Given the description of an element on the screen output the (x, y) to click on. 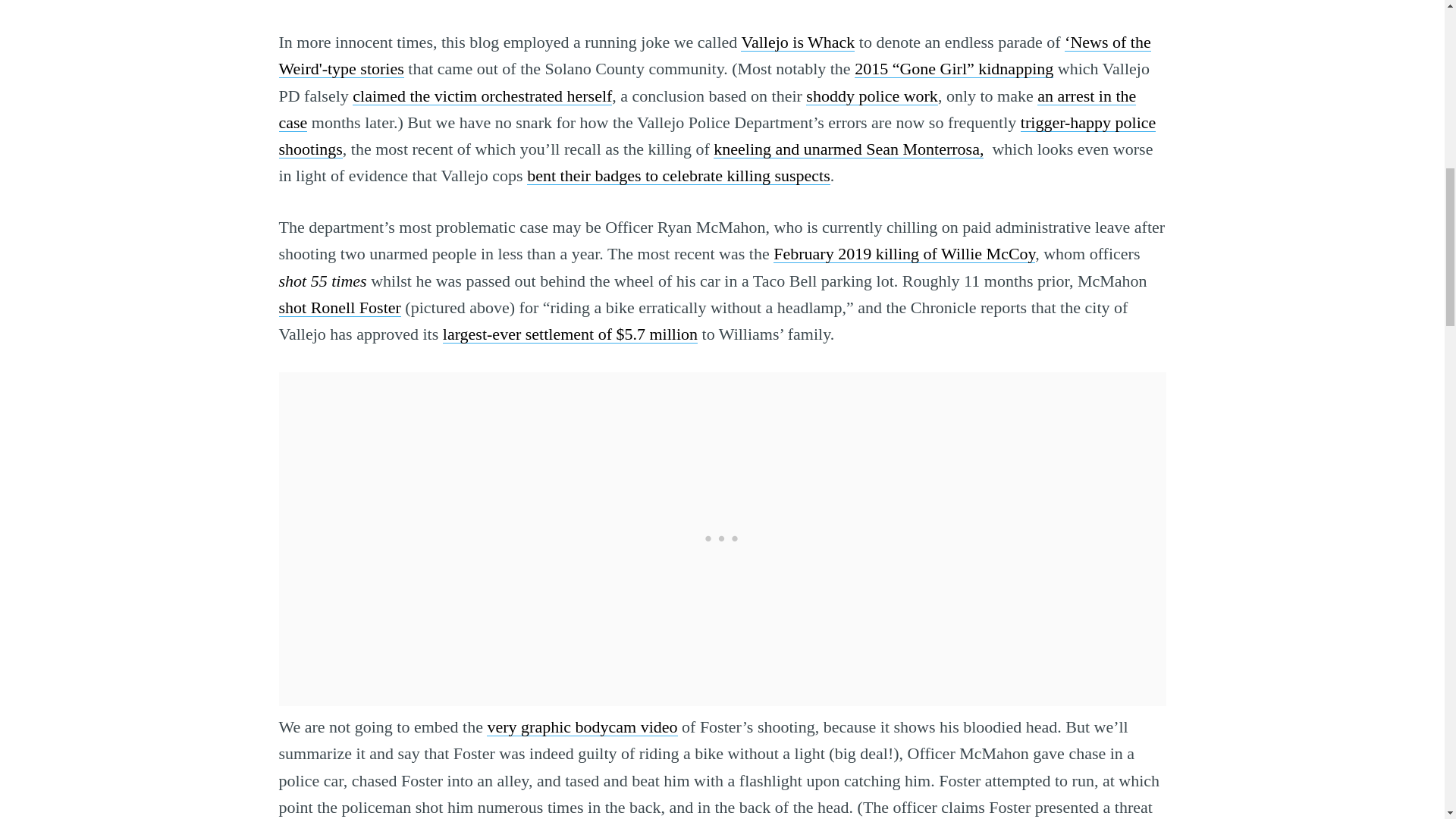
trigger-happy police shootings (717, 135)
very graphic bodycam video (581, 726)
shot Ronell Foster (340, 307)
shoddy police work (871, 95)
Vallejo is Whack (797, 41)
bent their badges to celebrate killing suspects (678, 175)
an arrest in the case (708, 108)
claimed the victim orchestrated herself (481, 95)
February 2019 killing of Willie McCoy (904, 253)
kneeling and unarmed Sean Monterrosa, (848, 148)
